Given the description of an element on the screen output the (x, y) to click on. 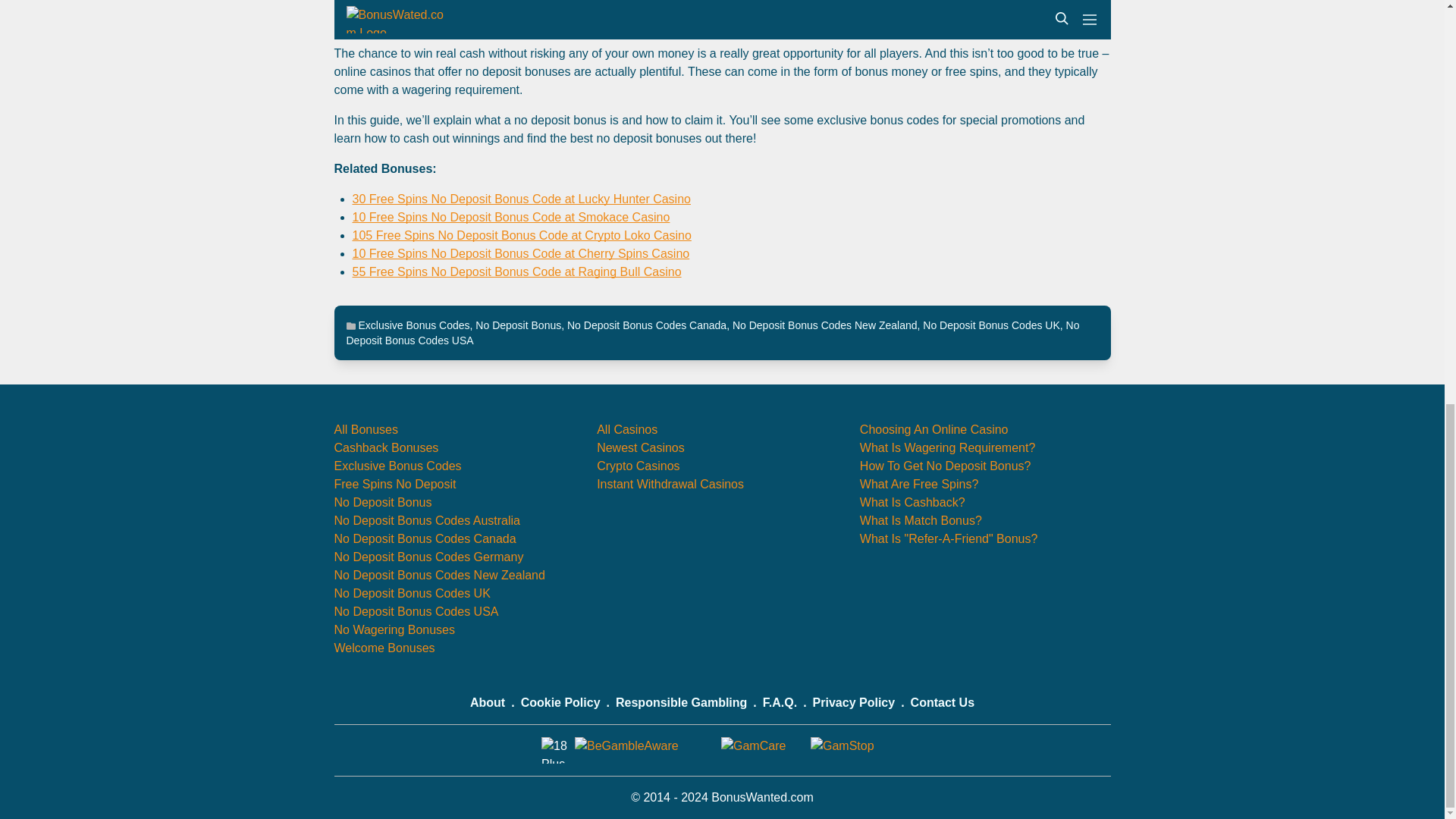
No Deposit Bonus Codes New Zealand (824, 325)
30 Free Spins No Deposit Bonus Code at Lucky Hunter Casino (521, 198)
Begambleaware.org (806, 23)
10 Free Spins No Deposit Bonus Code at Cherry Spins Casino (520, 253)
105 Free Spins No Deposit Bonus Code at Crypto Loko Casino (521, 235)
No Deposit Bonus (518, 325)
10 Free Spins No Deposit Bonus Code at Smokace Casino (510, 216)
PLAY HERE (722, 1)
55 Free Spins No Deposit Bonus Code at Raging Bull Casino (516, 271)
Exclusive Bonus Codes (413, 325)
No Deposit Bonus Codes Canada (646, 325)
No Deposit Bonus Codes UK (991, 325)
PLAY HERE (722, 1)
